Given the description of an element on the screen output the (x, y) to click on. 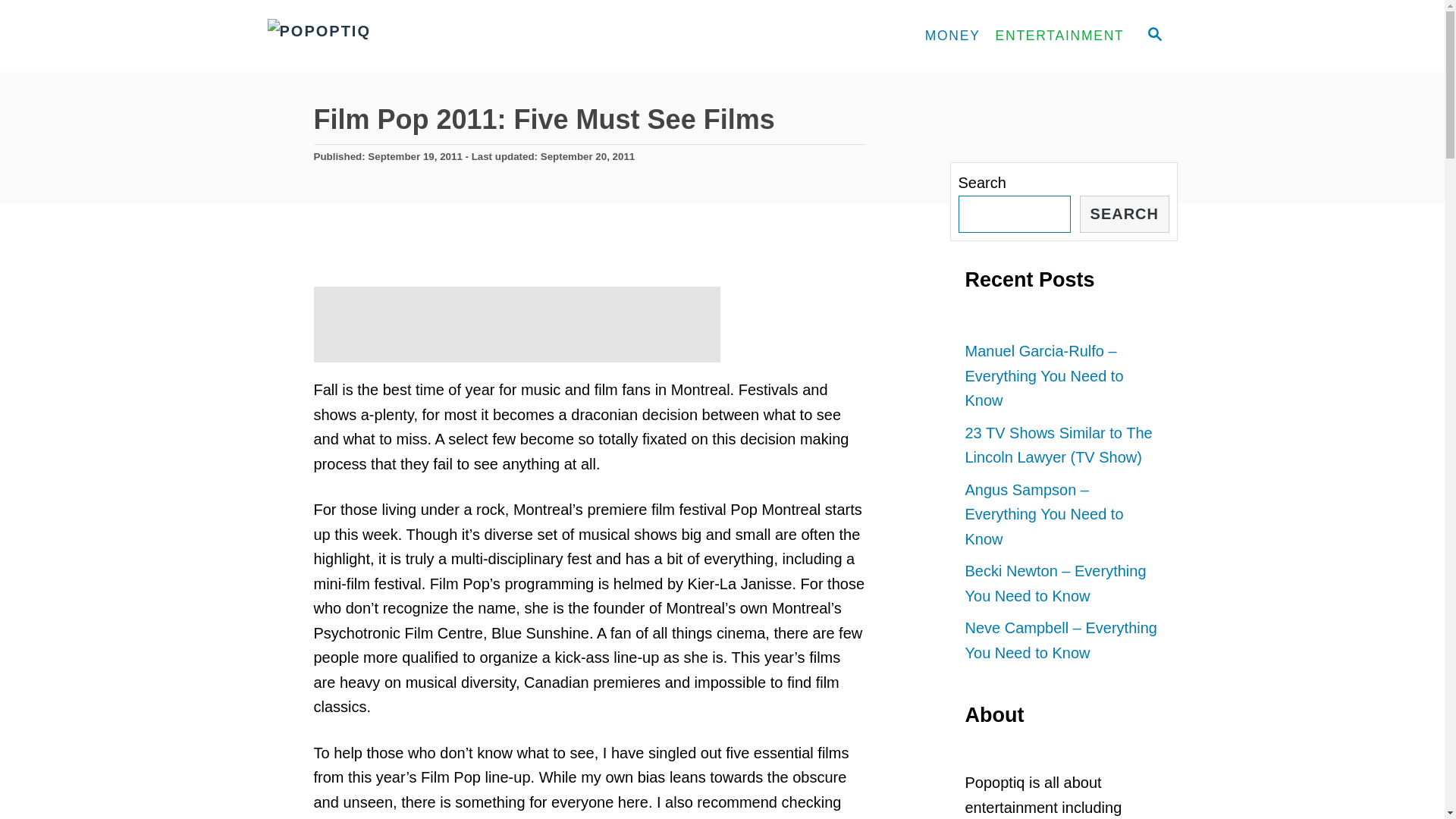
PopOptiq (403, 36)
SEARCH (1124, 214)
SEARCH (1153, 35)
ENTERTAINMENT (1060, 36)
MONEY (952, 36)
